Given the description of an element on the screen output the (x, y) to click on. 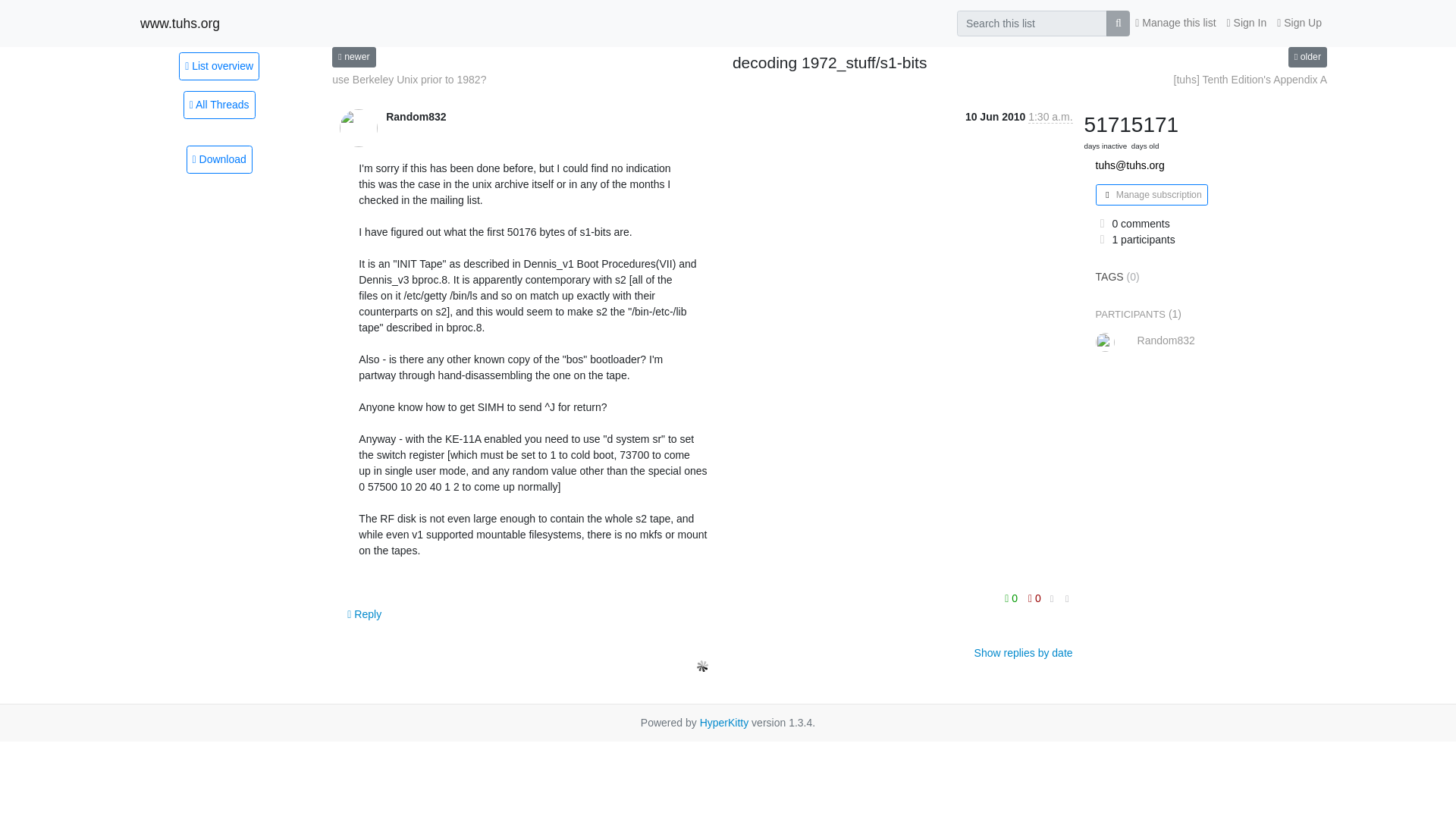
use Berkeley Unix prior to 1982? (408, 79)
You must be logged-in to vote. (1035, 598)
Download (218, 159)
use Berkeley Unix prior to 1982? (353, 56)
List overview (219, 65)
Sender's time: June 9, 2010, 9:30 p.m. (1049, 116)
You must be logged-in to vote. (1013, 598)
use Berkeley Unix prior to 1982? (408, 79)
older (1307, 56)
Sign Up (1298, 22)
newer (353, 56)
Manage this list (1175, 22)
Sign in to reply online (363, 614)
All Threads (219, 104)
This thread in gzipped mbox format (218, 159)
